Given the description of an element on the screen output the (x, y) to click on. 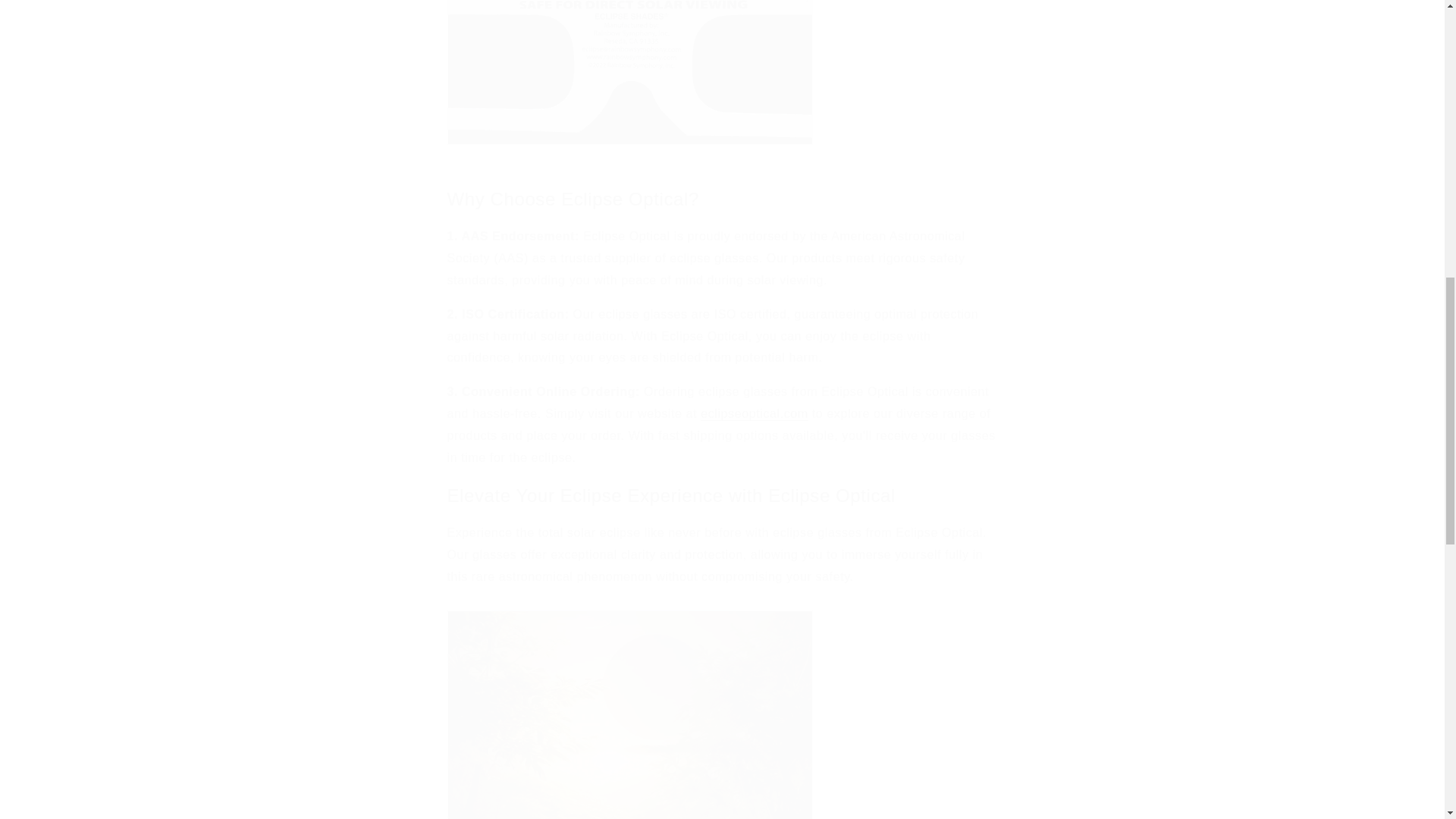
eclipseoptical.com (754, 413)
